Given the description of an element on the screen output the (x, y) to click on. 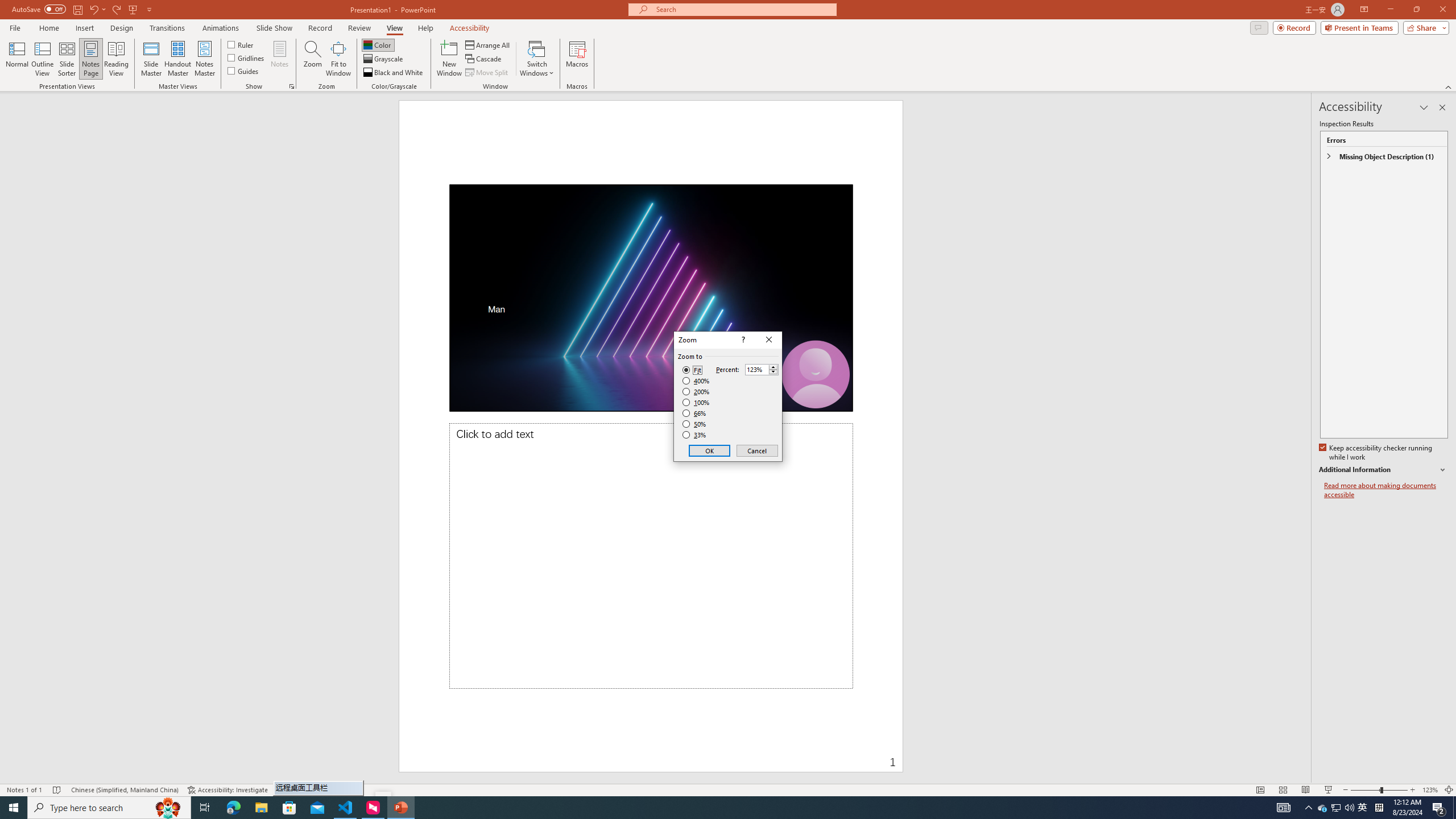
66% (694, 412)
Slide Master (151, 58)
